Given the description of an element on the screen output the (x, y) to click on. 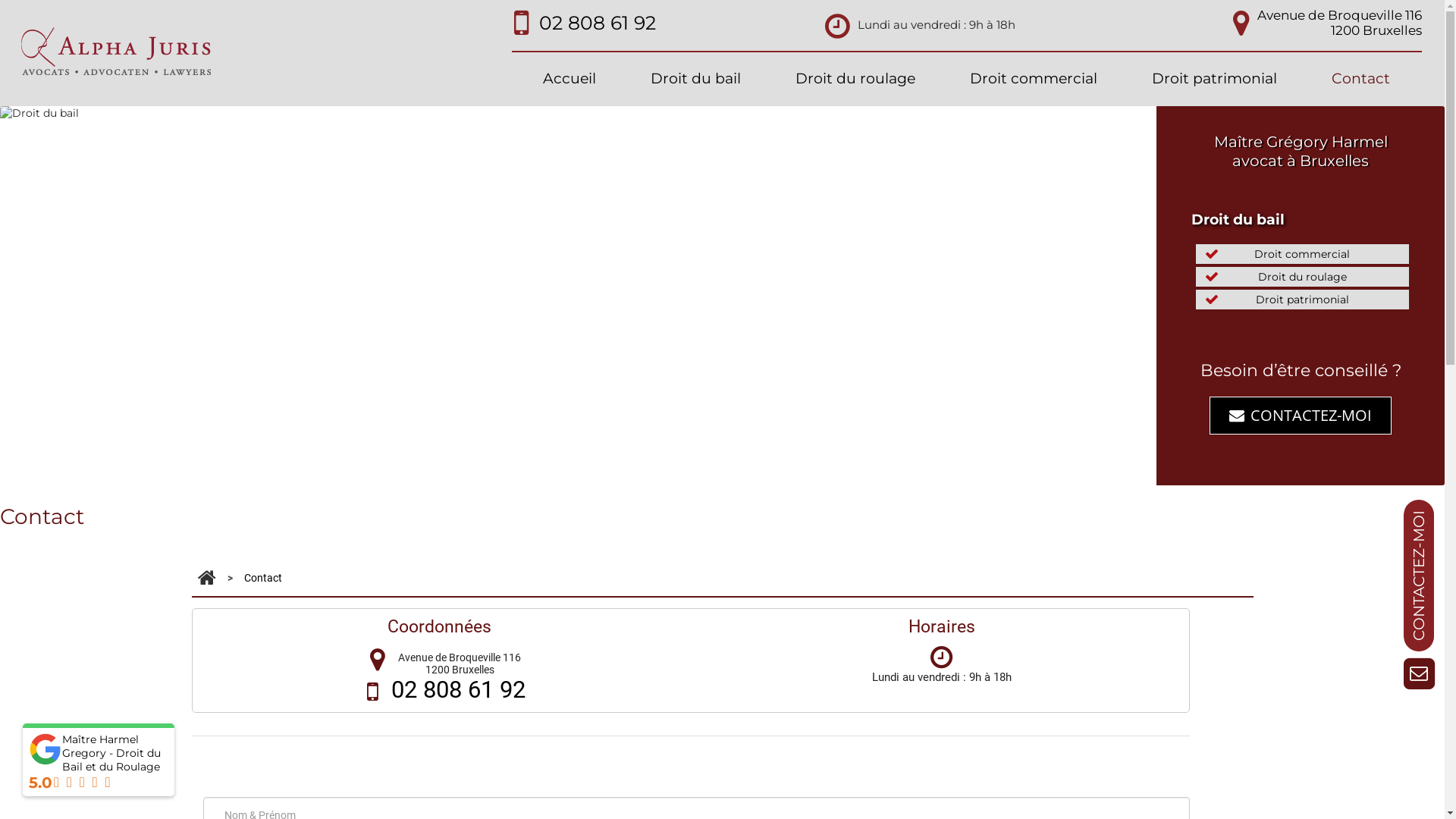
6 Element type: text (751, 473)
02 808 61 92 Element type: text (597, 22)
1 Element type: text (672, 473)
4 Element type: text (720, 473)
Droit commercial Element type: text (1033, 78)
02 808 61 92 Element type: text (458, 689)
Contact Element type: text (1360, 78)
Accueil Element type: text (569, 78)
5 Element type: text (736, 473)
3 Element type: text (704, 473)
Droit du roulage Element type: text (855, 78)
Droit patrimonial Element type: text (1214, 78)
CONTACTEZ-MOI Element type: text (1300, 415)
2 Element type: text (688, 473)
Droit du bail Element type: text (695, 78)
